Given the description of an element on the screen output the (x, y) to click on. 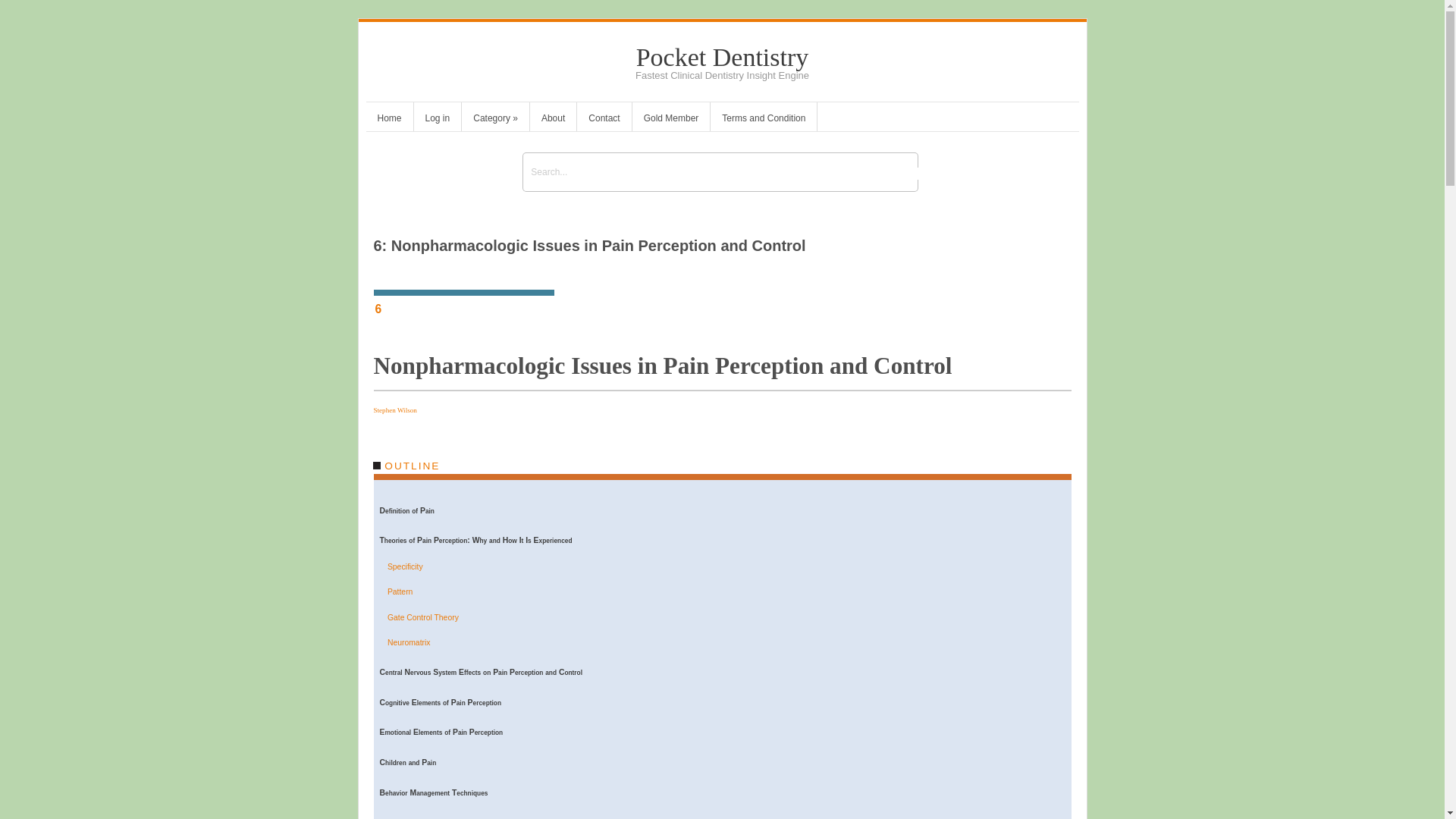
Terms and Condition (763, 119)
Home (388, 119)
Contact (603, 119)
Log in (437, 119)
Pocket Dentistry (722, 57)
Gold Member (670, 119)
Pocket Dentistry (722, 57)
About (552, 119)
